Given the description of an element on the screen output the (x, y) to click on. 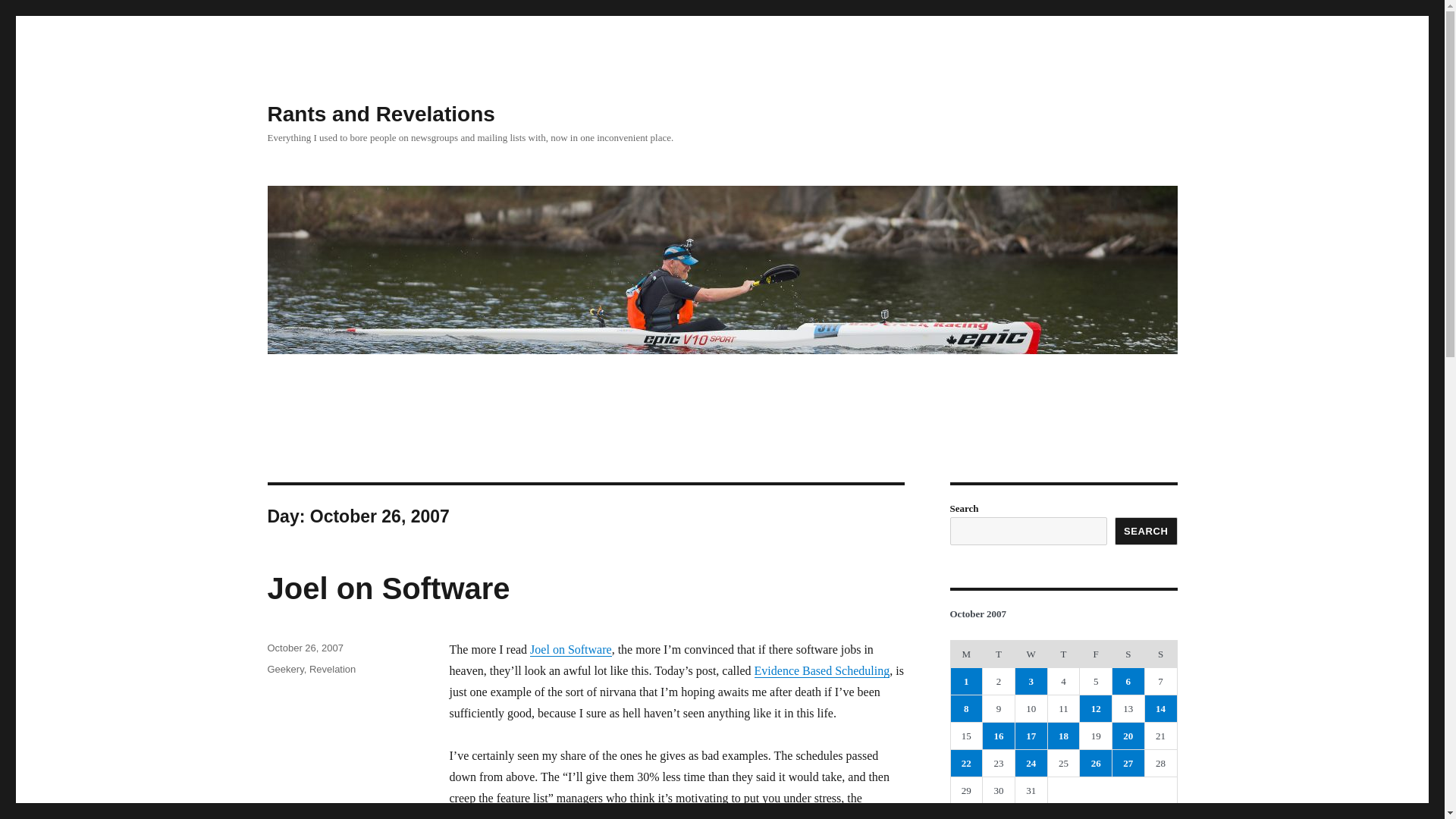
Friday (1096, 653)
SEARCH (1146, 530)
Revelation (331, 668)
24 (1030, 763)
Wednesday (1030, 653)
October 26, 2007 (304, 647)
Monday (966, 653)
Evidence Based Scheduling (821, 670)
18 (1064, 735)
Rants and Revelations (380, 114)
